Given the description of an element on the screen output the (x, y) to click on. 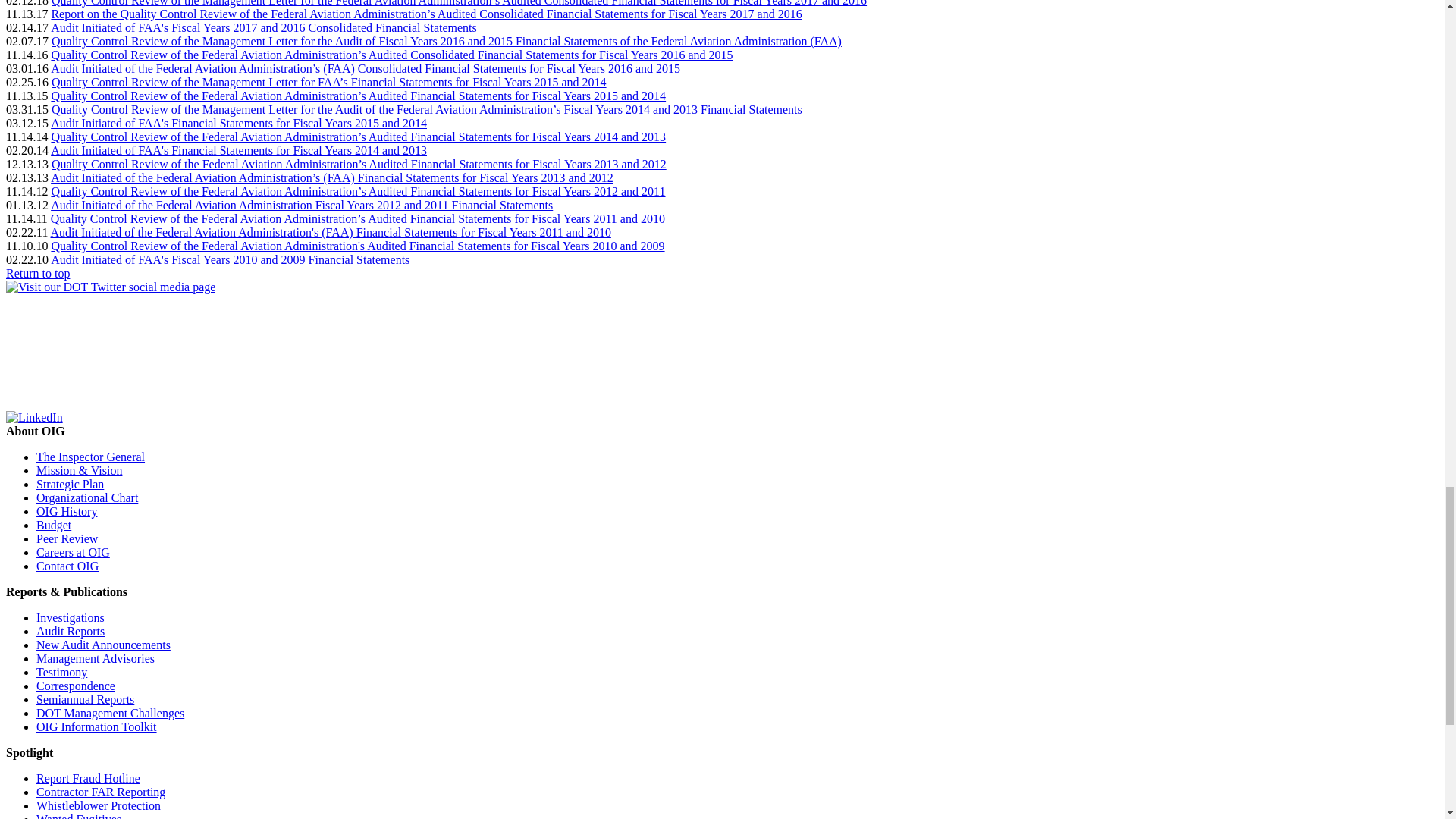
Subscribe to this site via e-mail (118, 403)
